Given the description of an element on the screen output the (x, y) to click on. 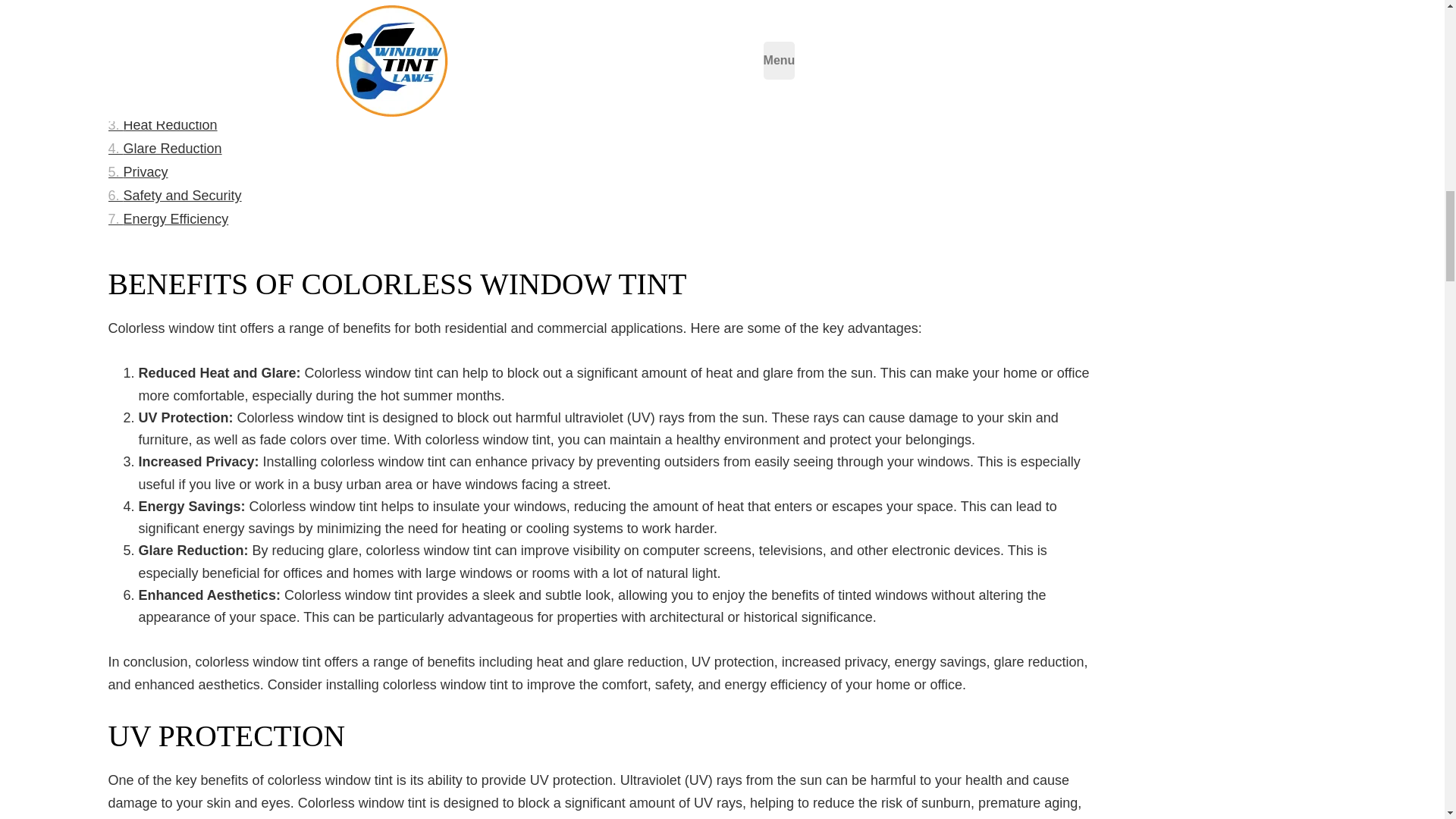
Privacy (137, 172)
Safety and Security (174, 195)
UV Protection (156, 101)
Energy Efficiency (167, 219)
Heat Reduction (161, 125)
Benefits of Colorless Window Tint (216, 78)
Benefits of Colorless Window Tint (216, 78)
Safety and Security (174, 195)
Glare Reduction (164, 148)
Glare Reduction (164, 148)
